Given the description of an element on the screen output the (x, y) to click on. 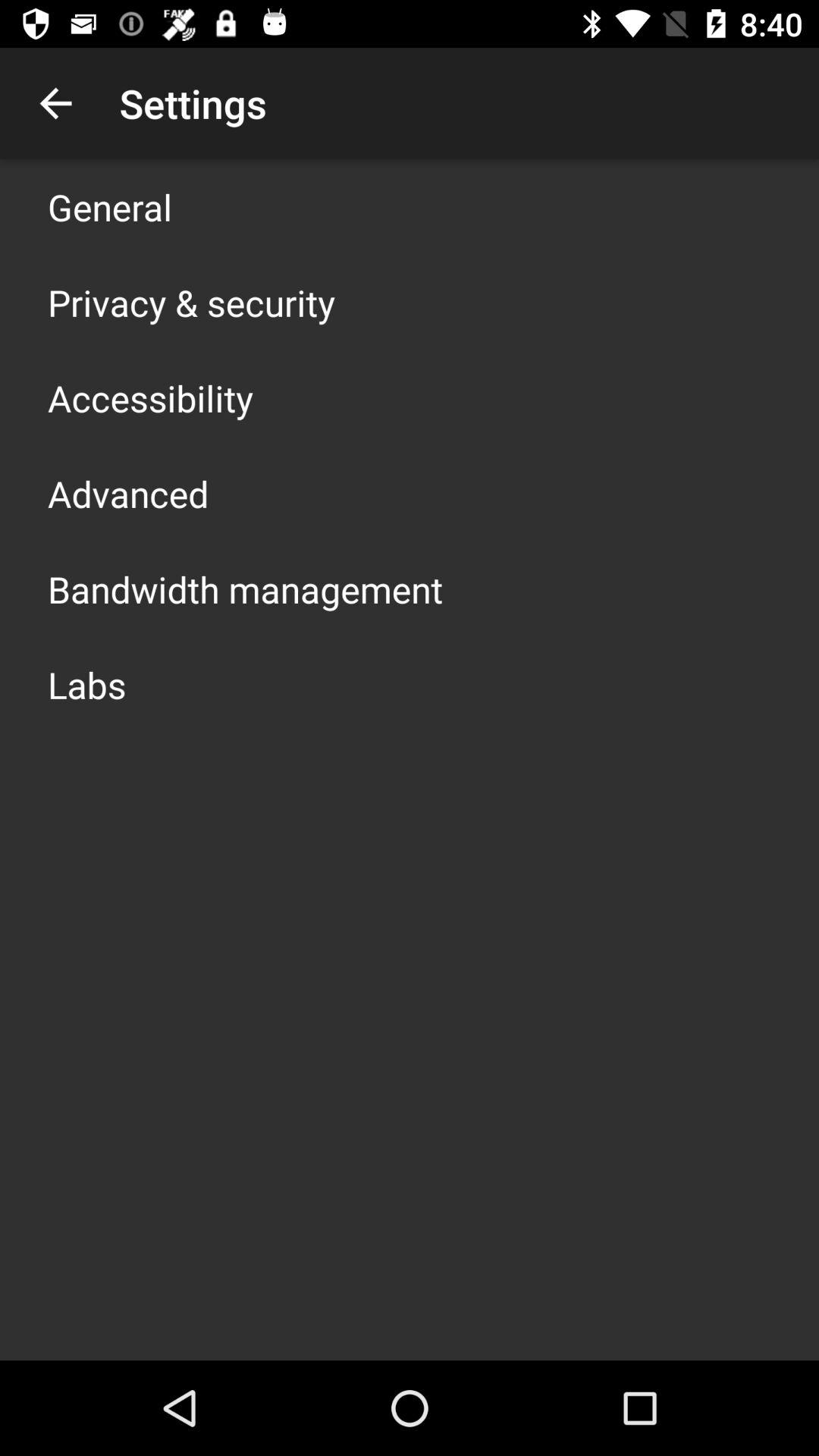
choose item below the accessibility (127, 493)
